Given the description of an element on the screen output the (x, y) to click on. 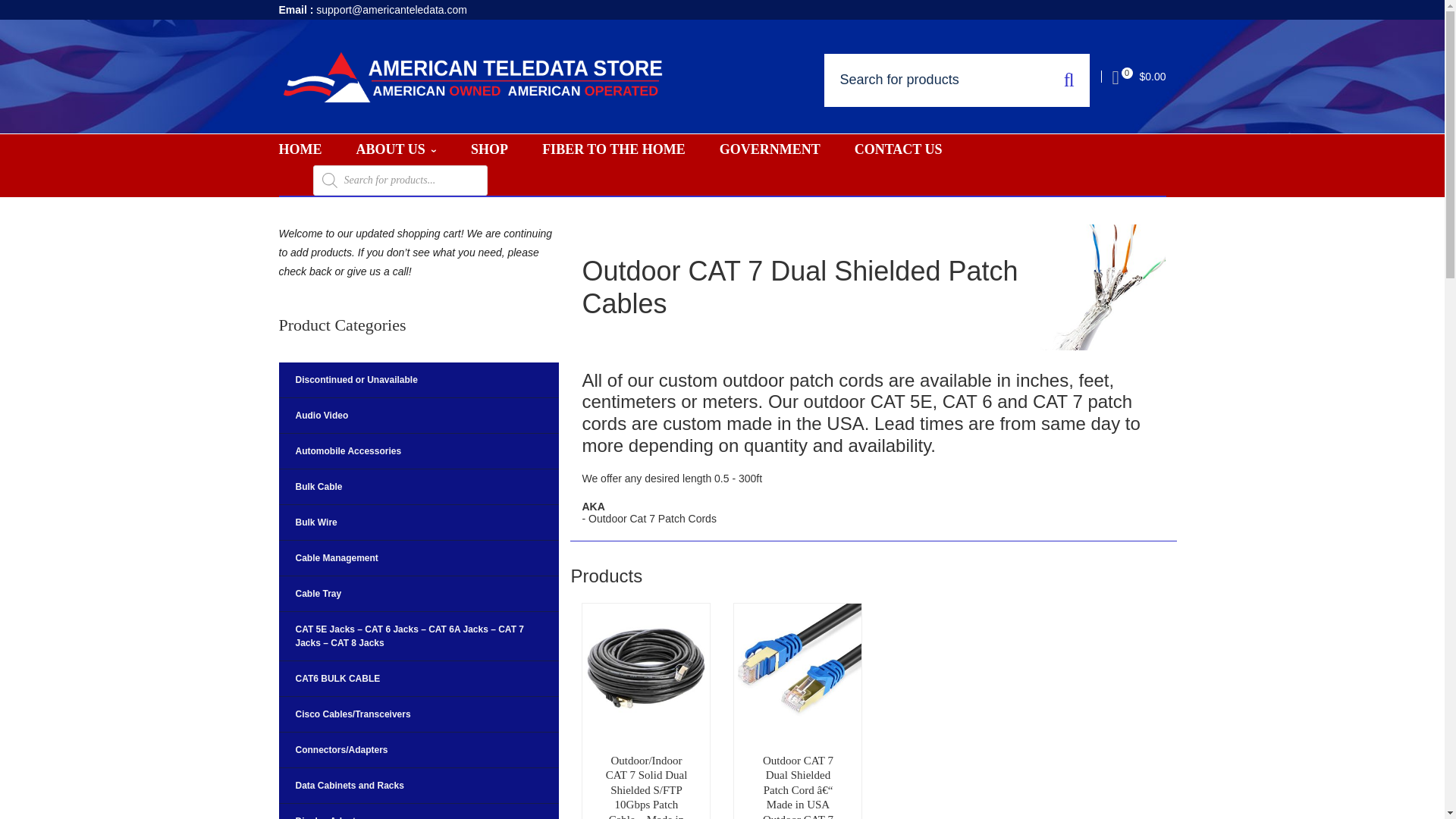
HOME (300, 149)
ABOUT US (397, 149)
Audio Video (419, 416)
Discontinued or Unavailable (419, 380)
Select options (815, 712)
FIBER TO THE HOME (613, 149)
American Teledata Store -  (473, 75)
CONTACT US (898, 149)
SHOP (489, 149)
GOVERNMENT (770, 149)
